Given the description of an element on the screen output the (x, y) to click on. 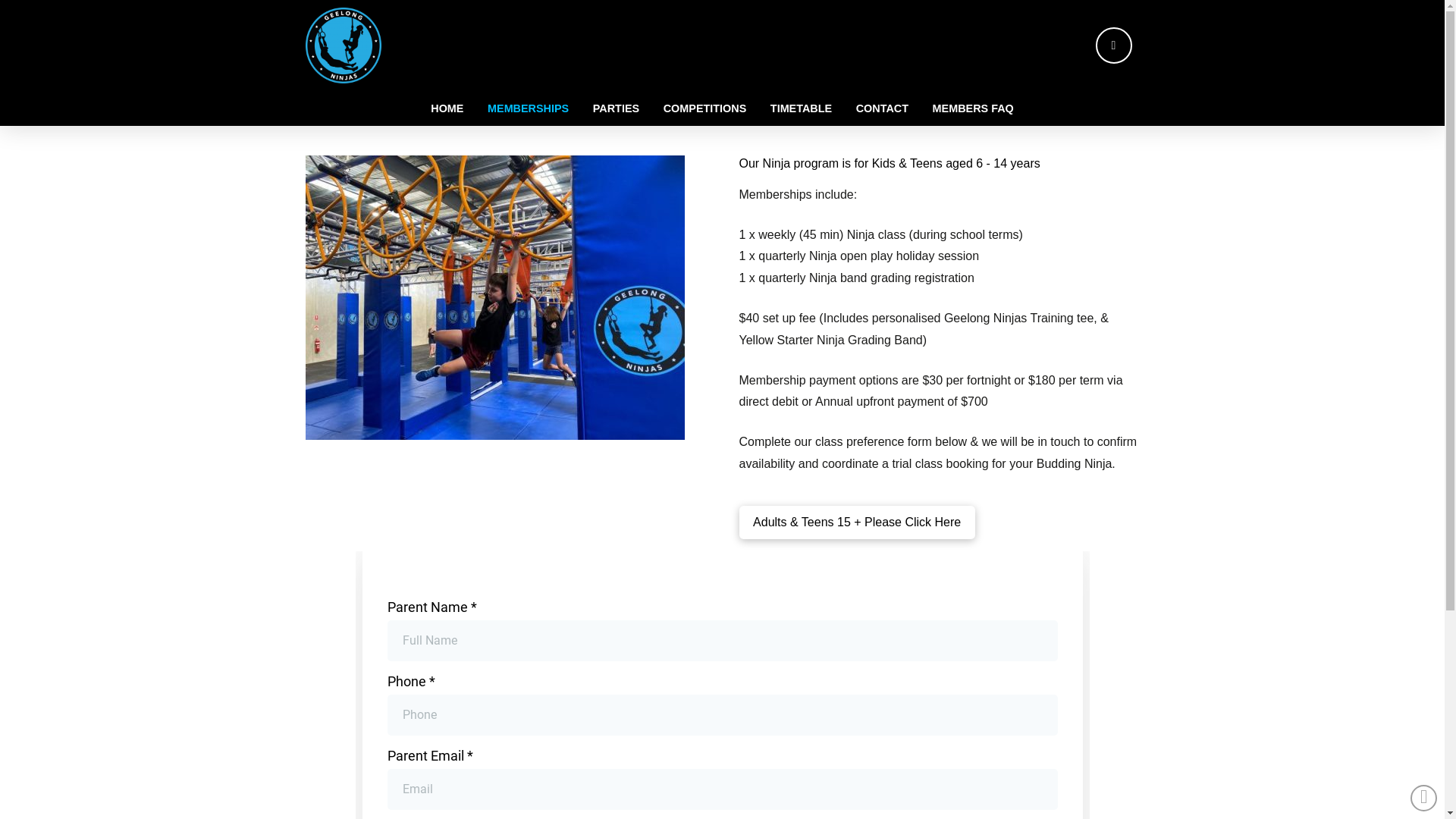
CONTACT Element type: text (882, 108)
HOME Element type: text (446, 108)
MEMBERS FAQ Element type: text (973, 108)
TIMETABLE Element type: text (801, 108)
Adults & Teens 15 + Please Click Here Element type: text (856, 522)
COMPETITIONS Element type: text (704, 108)
MEMBERSHIPS Element type: text (527, 108)
Back to Top Element type: hover (1423, 797)
PARTIES Element type: text (615, 108)
